Given the description of an element on the screen output the (x, y) to click on. 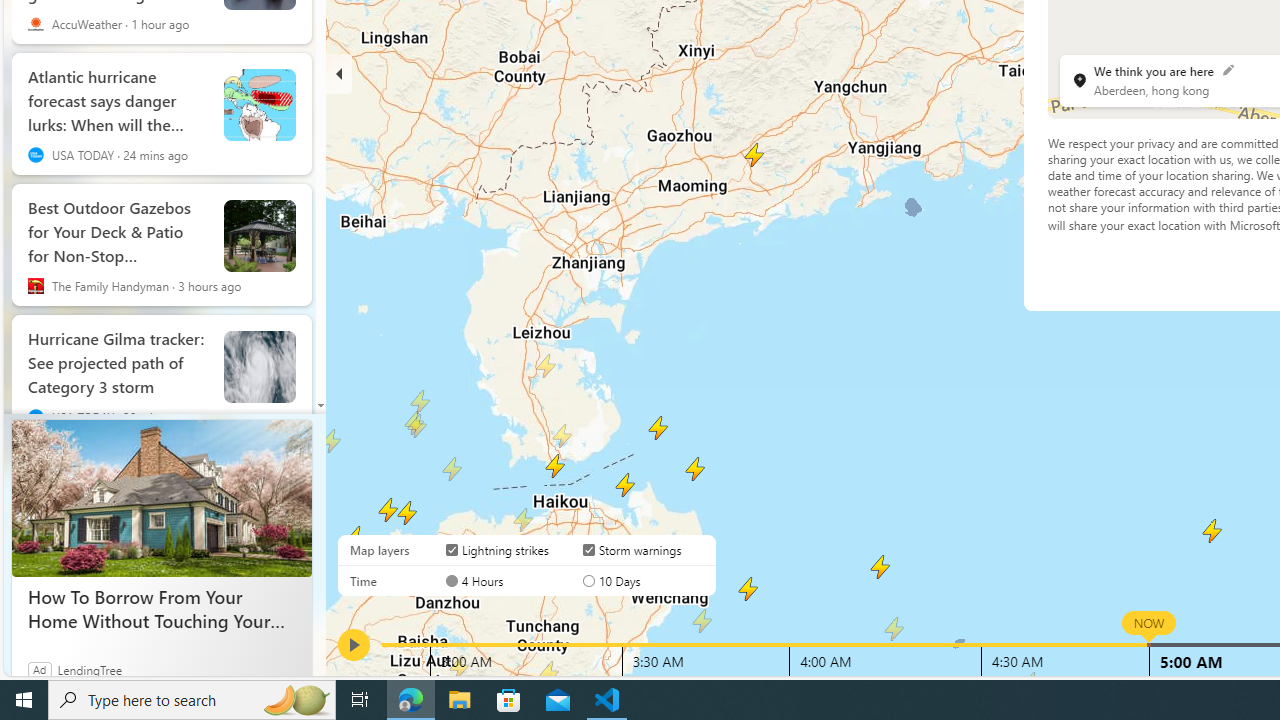
Hide (339, 73)
AutomationID: radioButton-DS-EntryPoint1-1-layer-subtype-1-0 (451, 580)
AccuWeather (35, 23)
AutomationID: radioButton-DS-EntryPoint1-1-layer-subtype-1-1 (588, 580)
Edit (1228, 69)
LendingTree (89, 669)
How To Borrow From Your Home Without Touching Your Mortgage (161, 497)
How To Borrow From Your Home Without Touching Your Mortgage (161, 608)
